Given the description of an element on the screen output the (x, y) to click on. 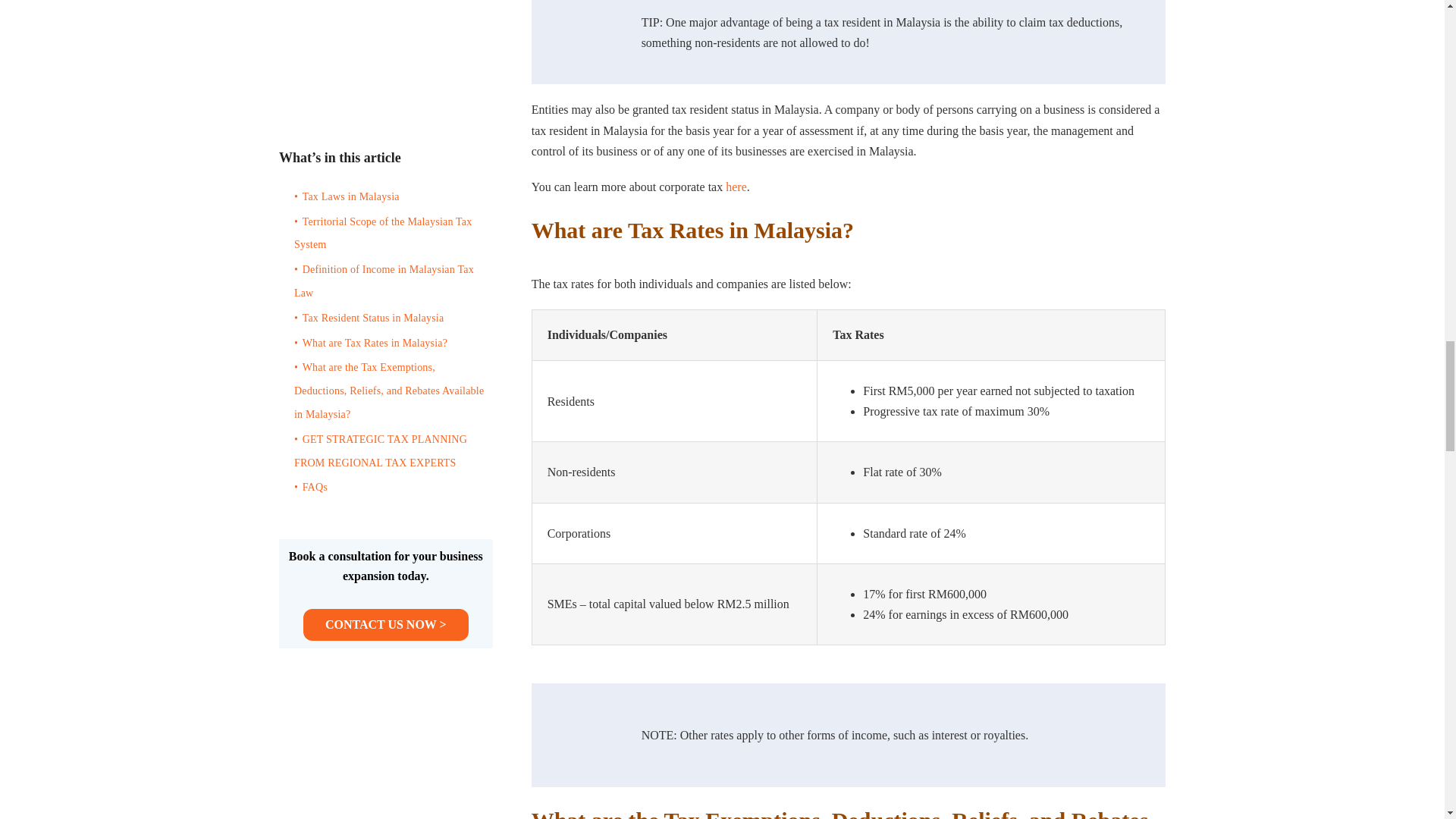
here (735, 186)
Malaysia Corporate Secretary Ramu (582, 734)
Malaysia Corporate Secretary Ramu (582, 33)
